Given the description of an element on the screen output the (x, y) to click on. 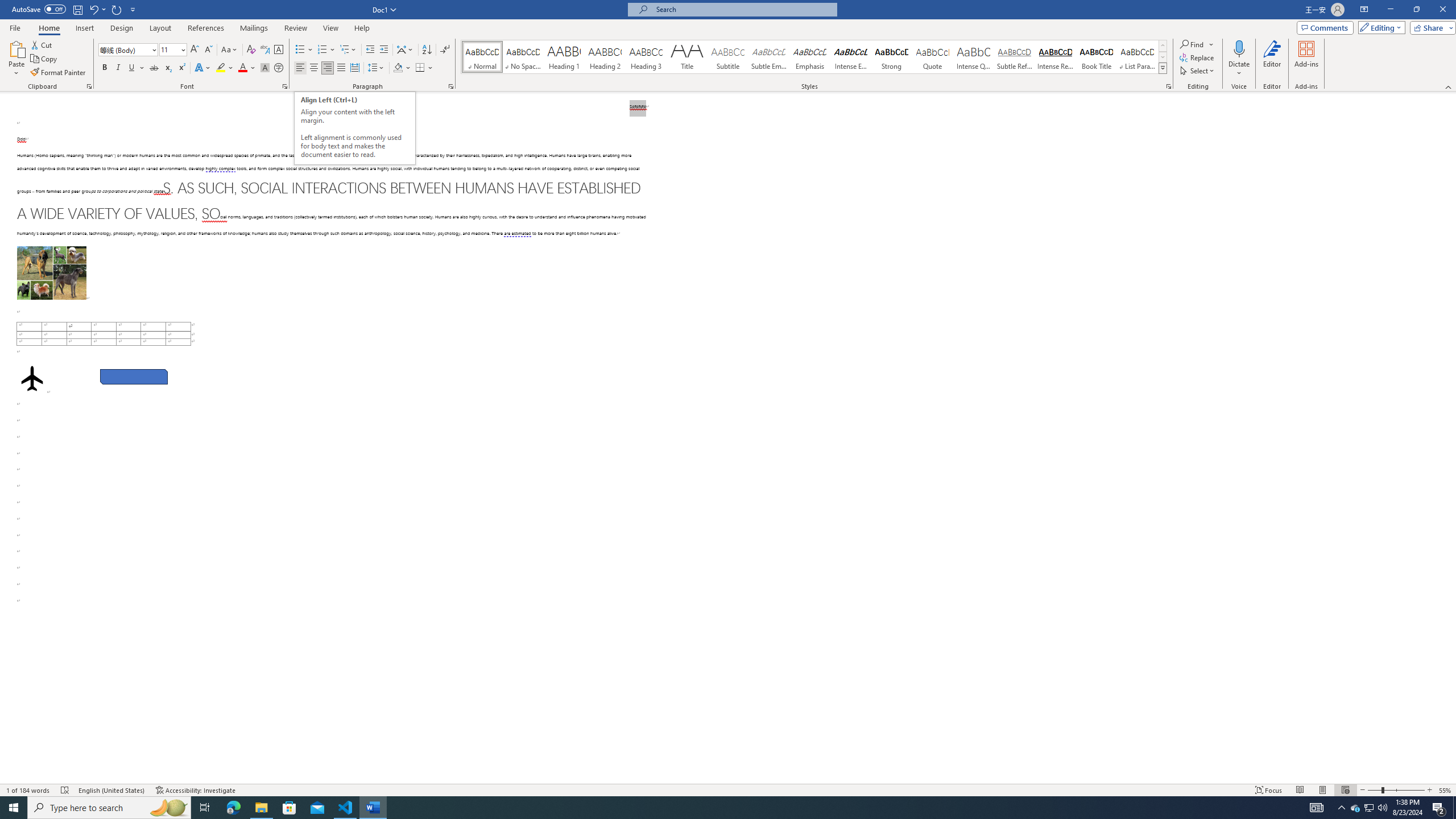
Zoom 55% (1445, 790)
Subtle Reference (1014, 56)
